Given the description of an element on the screen output the (x, y) to click on. 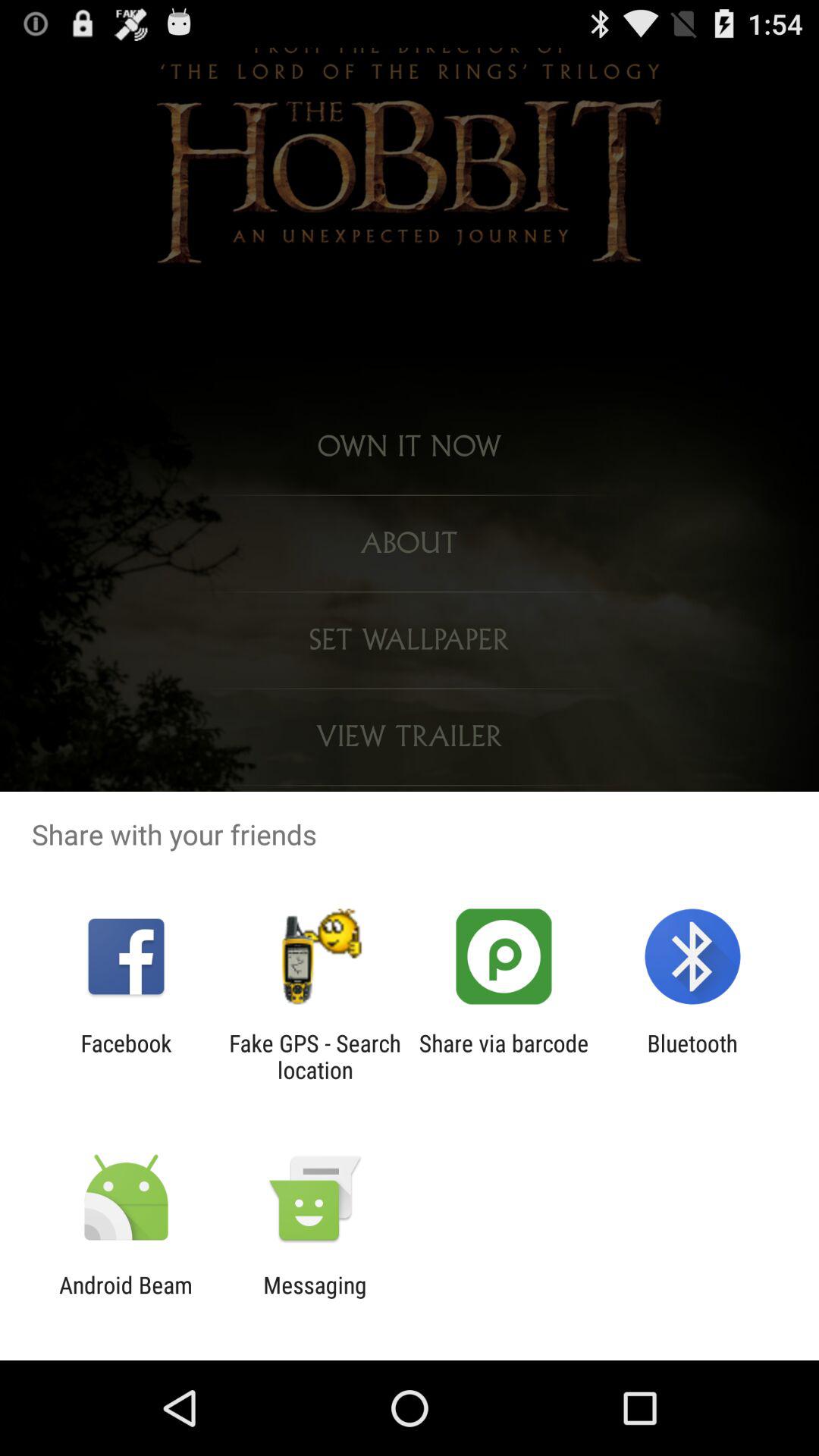
turn on item to the right of share via barcode item (692, 1056)
